Given the description of an element on the screen output the (x, y) to click on. 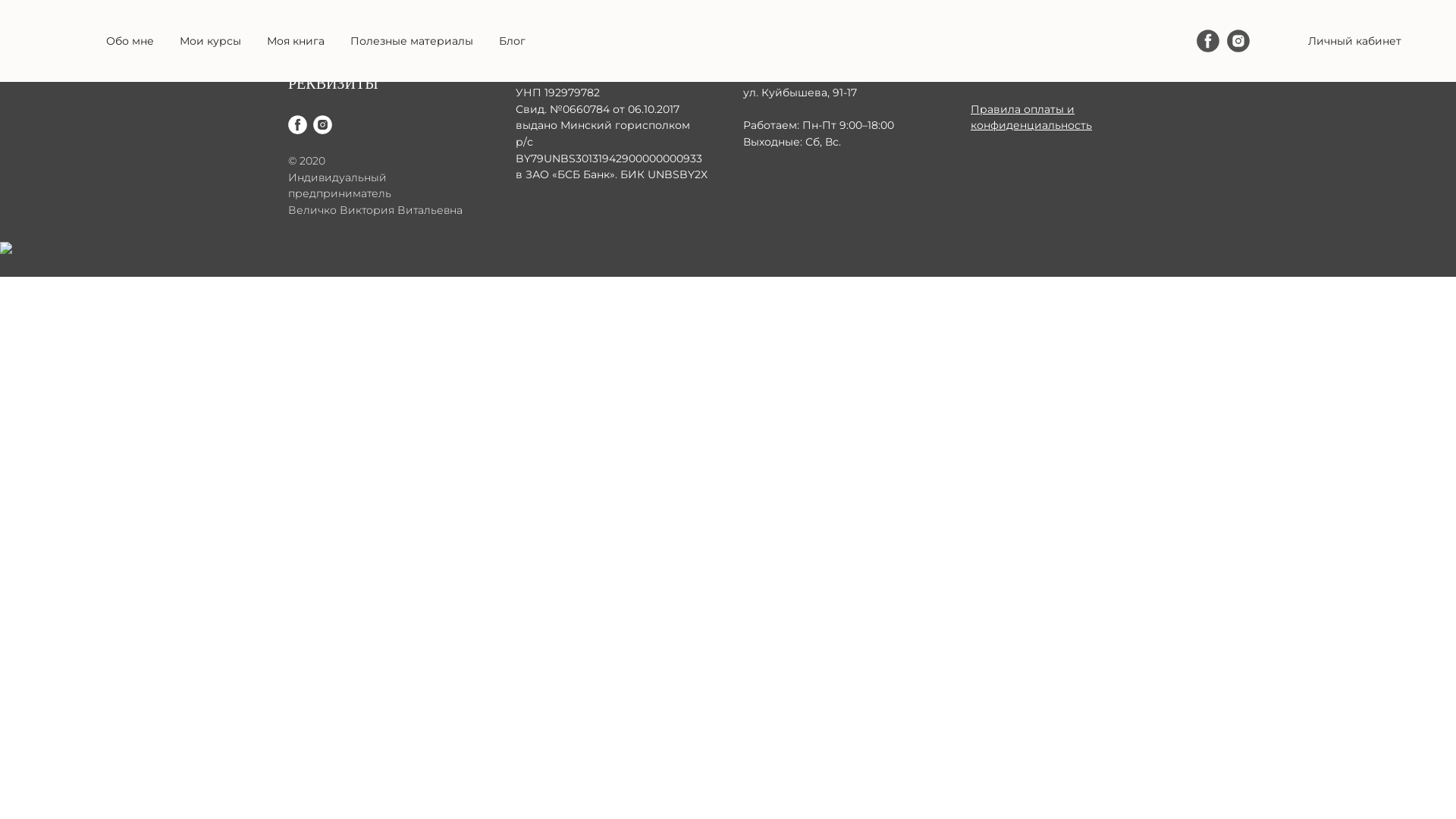
Instagram Element type: text (322, 129)
Facebook Element type: text (1219, 37)
Facebook Element type: text (1207, 40)
Instagram Element type: text (1250, 37)
+375 296 824 211 Element type: text (1360, 37)
Instagram Element type: text (1237, 40)
Facebook Element type: text (297, 129)
